Given the description of an element on the screen output the (x, y) to click on. 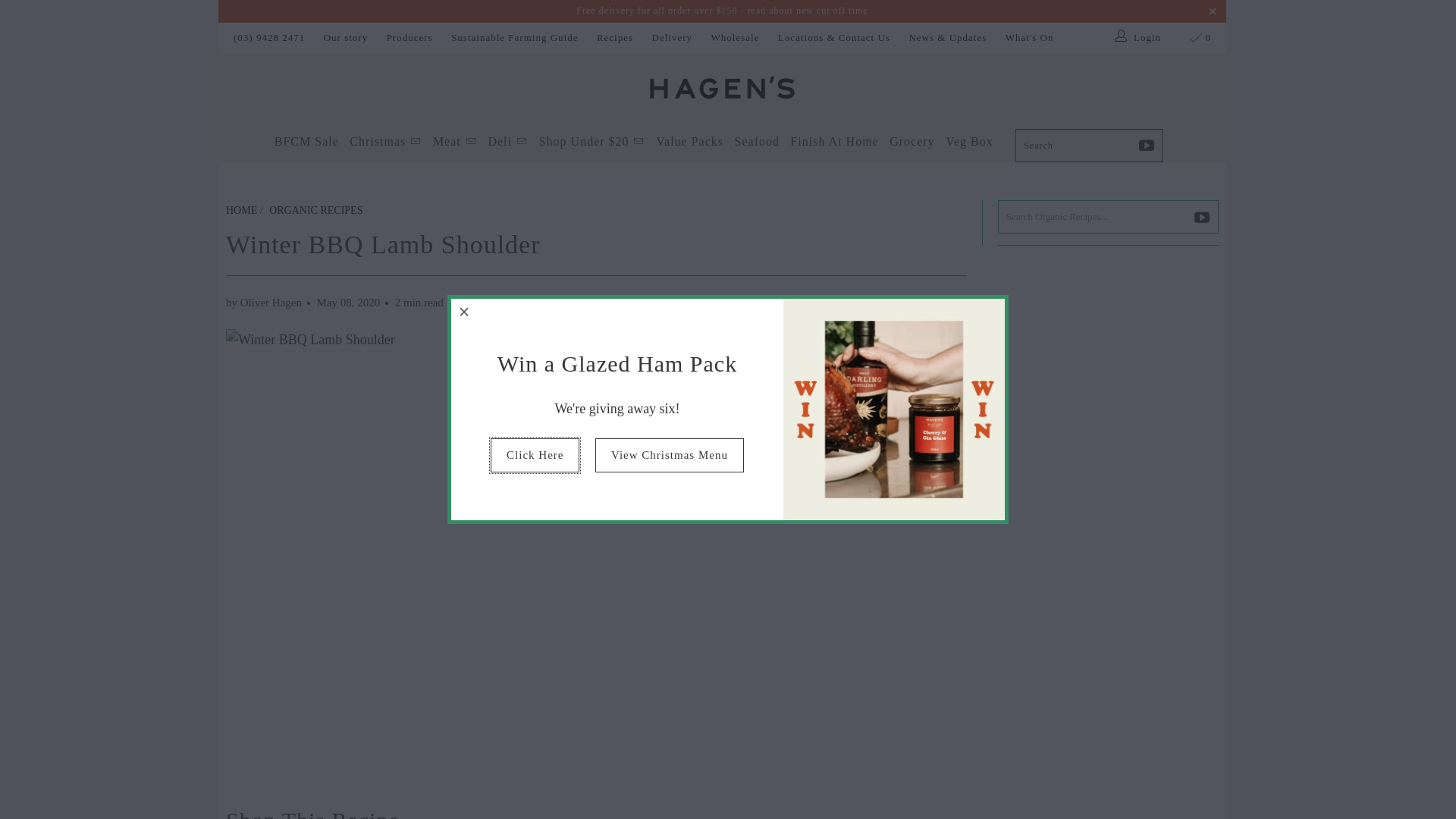
BFCM Sale Element type: text (306, 142)
by Oliver Hagen Element type: text (263, 302)
Wholesale Element type: text (735, 37)
View Christmas Menu Element type: text (669, 455)
Meat Element type: text (454, 142)
Shop Under $20 Element type: text (592, 142)
Locations & Contact Us Element type: text (834, 37)
Sustainable Farming Guide Element type: text (514, 37)
Click Here Element type: text (534, 455)
new cut off time Element type: text (832, 10)
Close Element type: hover (464, 312)
What's On Element type: text (1029, 37)
Hagen's Organics Element type: hover (722, 89)
Deli Element type: text (507, 142)
ORGANIC RECIPES Element type: text (315, 210)
Finish At Home Element type: text (834, 142)
Our story Element type: text (345, 37)
Seafood Element type: text (756, 142)
Value Packs Element type: text (689, 142)
(03) 9428 2471 Element type: text (268, 37)
Veg Box Element type: text (969, 142)
News & Updates Element type: text (947, 37)
Grocery Element type: text (911, 142)
Christmas Element type: text (385, 142)
Login Element type: text (1138, 37)
Delivery Element type: text (672, 37)
Recipes Element type: text (614, 37)
0 Element type: text (1201, 37)
Producers Element type: text (409, 37)
HOME Element type: text (241, 210)
